Given the description of an element on the screen output the (x, y) to click on. 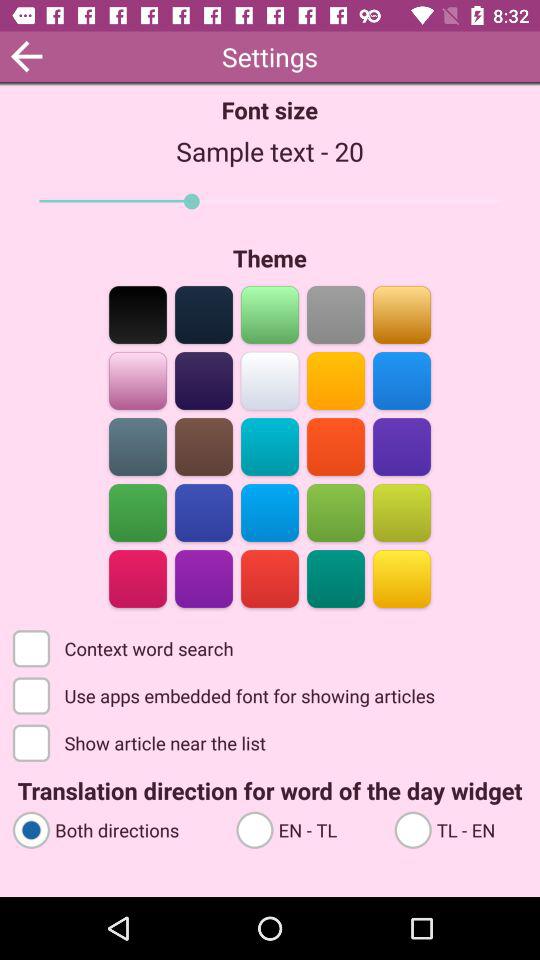
select the color bar (137, 445)
